Given the description of an element on the screen output the (x, y) to click on. 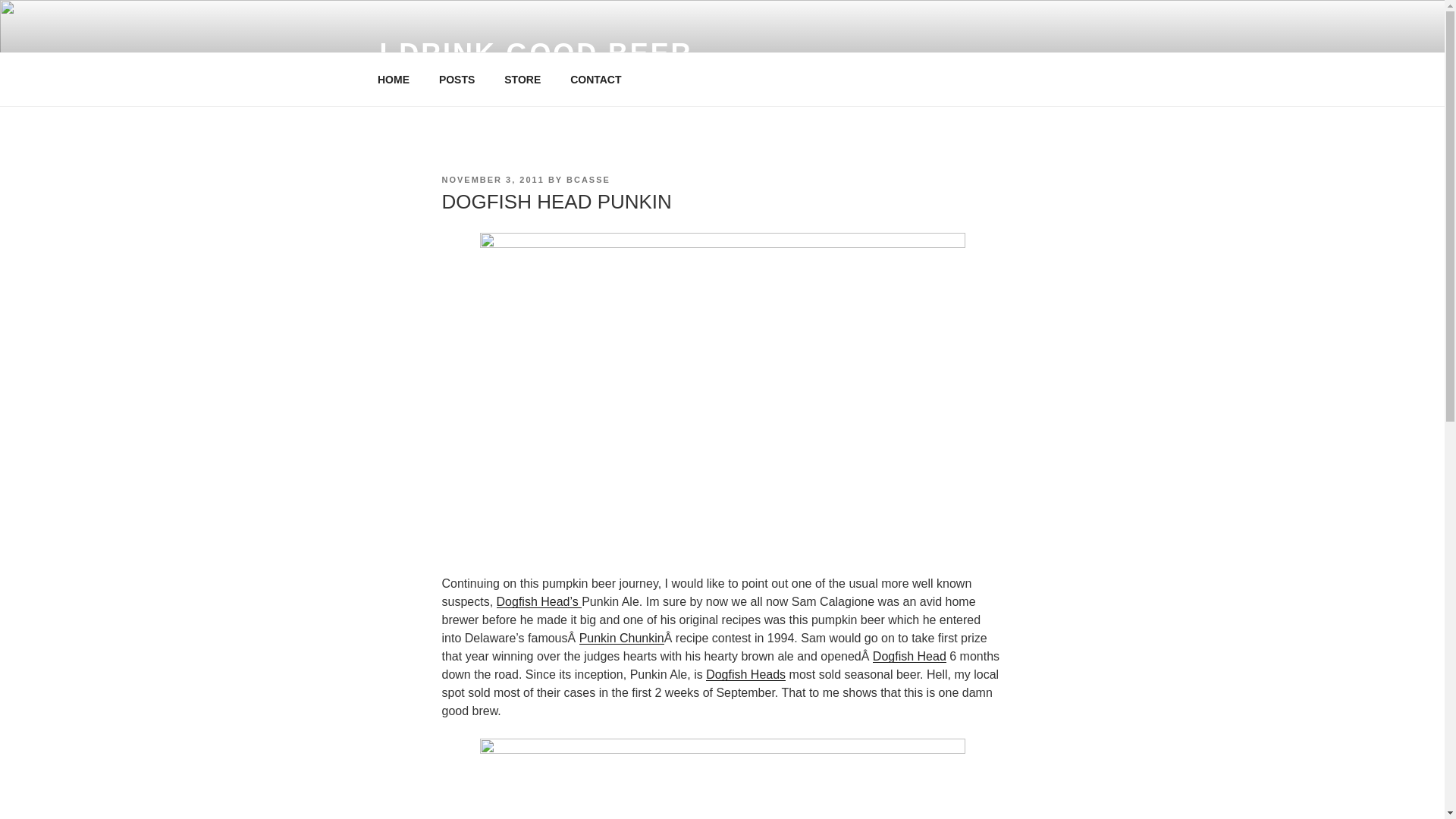
Dogfish Heads (746, 674)
Punkin Chunkin (621, 637)
HOME (393, 78)
Dogfish Head (909, 656)
POSTS (456, 78)
I DRINK GOOD BEER (535, 52)
CONTACT (595, 78)
BCASSE (588, 179)
STORE (523, 78)
NOVEMBER 3, 2011 (492, 179)
